Given the description of an element on the screen output the (x, y) to click on. 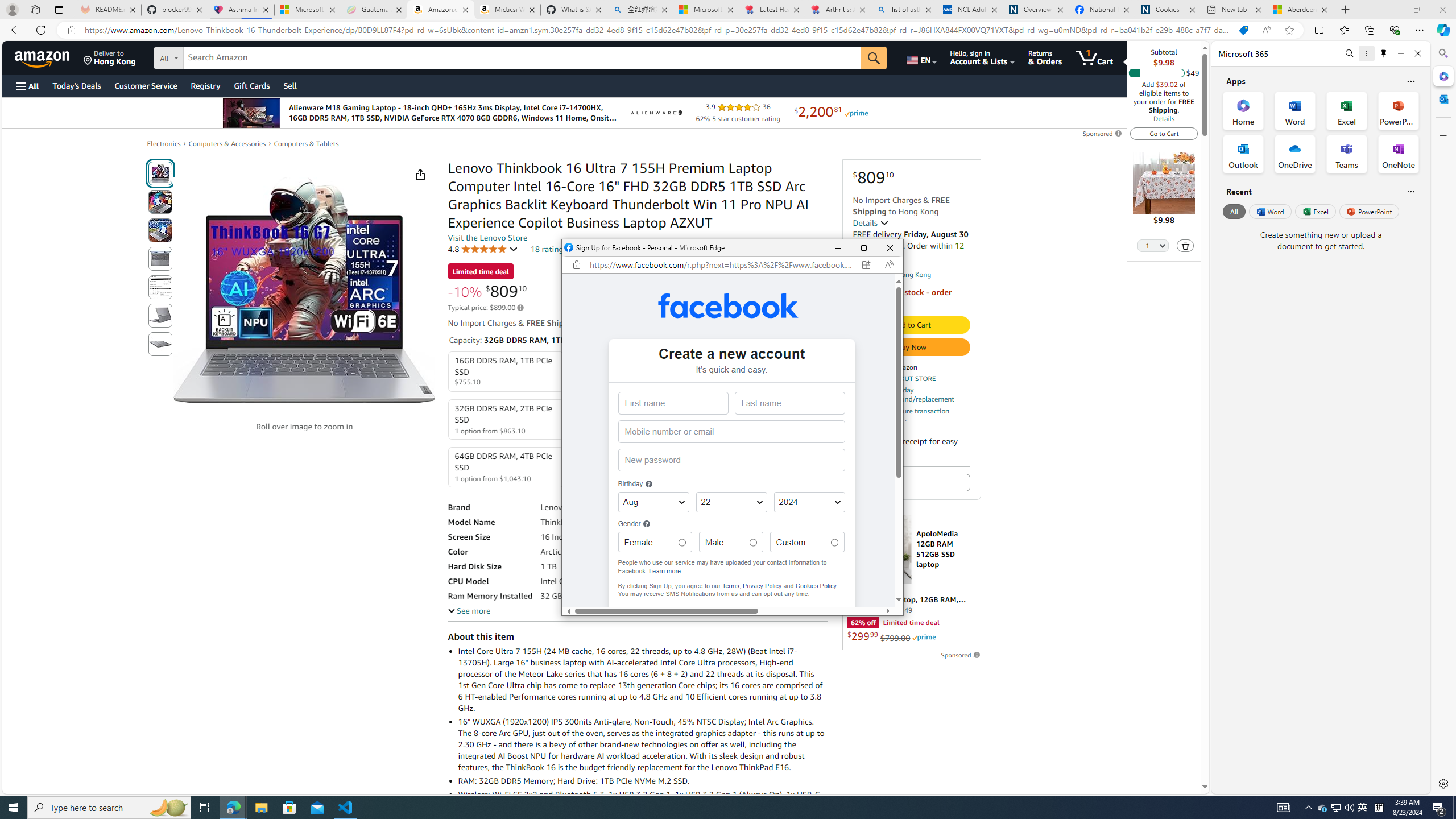
Computers & Tablets (306, 143)
Last name (788, 403)
Outlook Office App (1243, 154)
Search in (210, 56)
Cookies Policy (815, 584)
1 item in cart (1094, 57)
Delete (1184, 245)
App available. Install Facebook (865, 264)
